Given the description of an element on the screen output the (x, y) to click on. 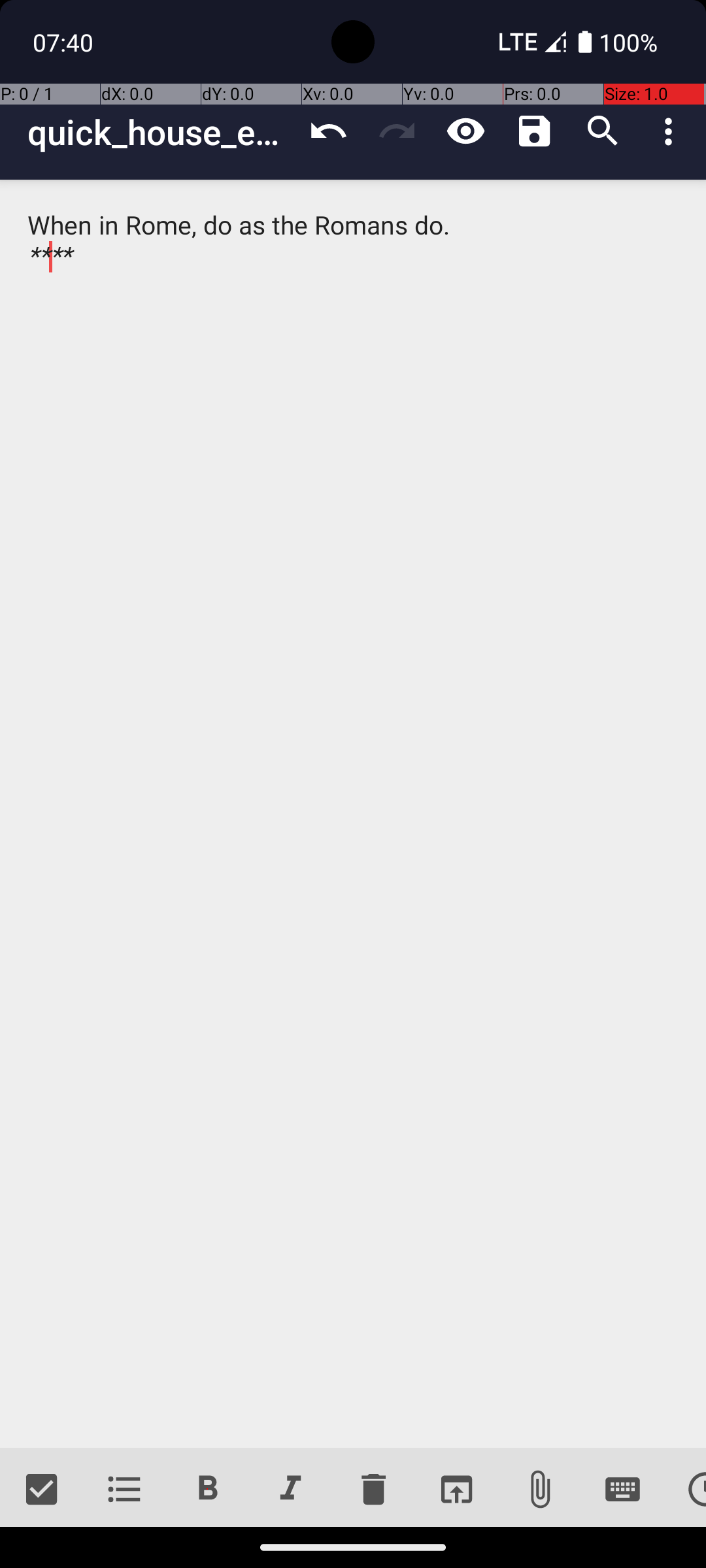
quick_house_edited Element type: android.widget.TextView (160, 131)
When in Rome, do as the Romans do.
**** Element type: android.widget.EditText (353, 813)
07:40 Element type: android.widget.TextView (64, 41)
